Given the description of an element on the screen output the (x, y) to click on. 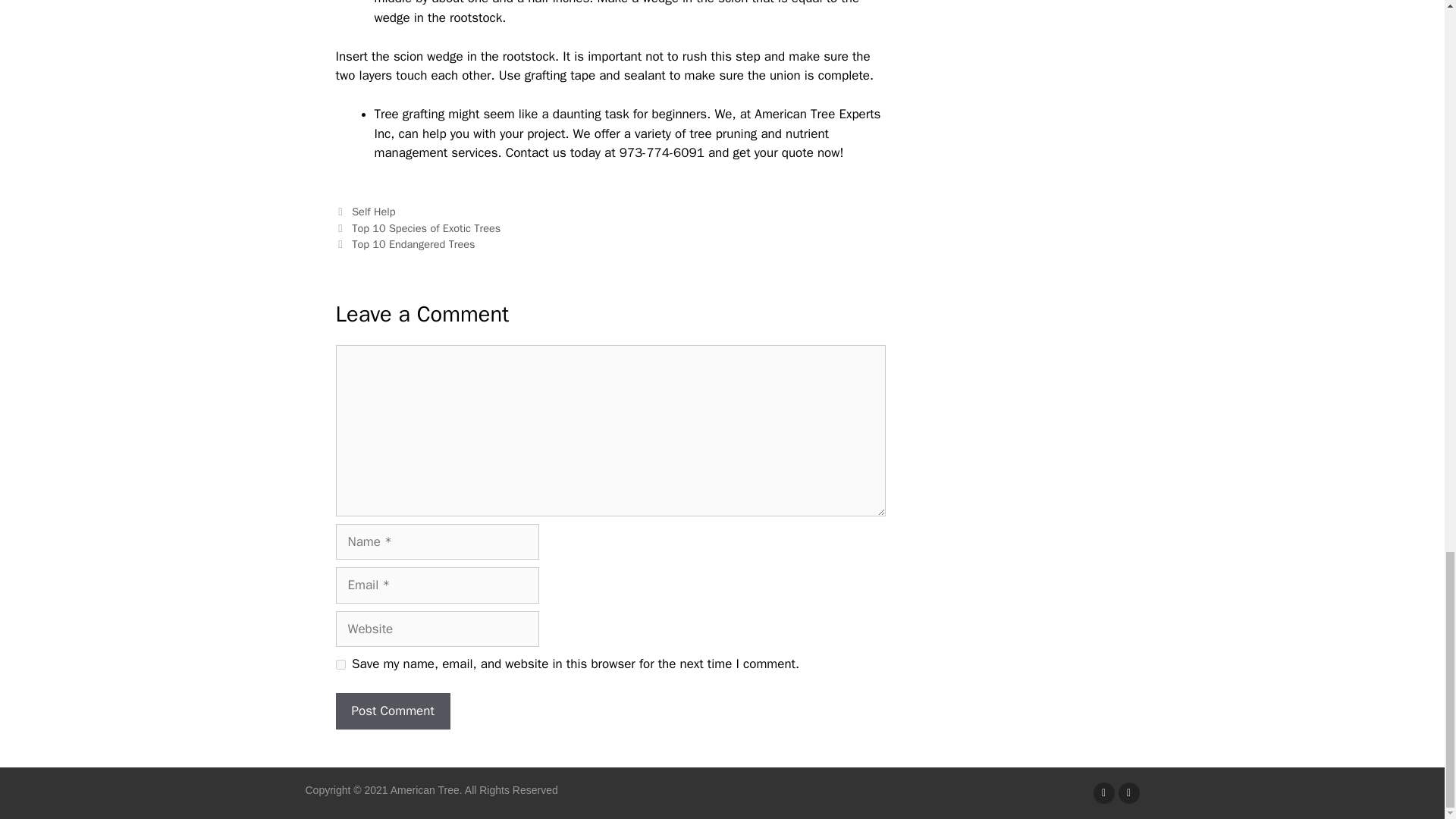
Self Help (373, 211)
Top 10 Species of Exotic Trees (426, 228)
Top 10 Endangered Trees (413, 243)
Post Comment (391, 710)
Post Comment (391, 710)
yes (339, 664)
